Given the description of an element on the screen output the (x, y) to click on. 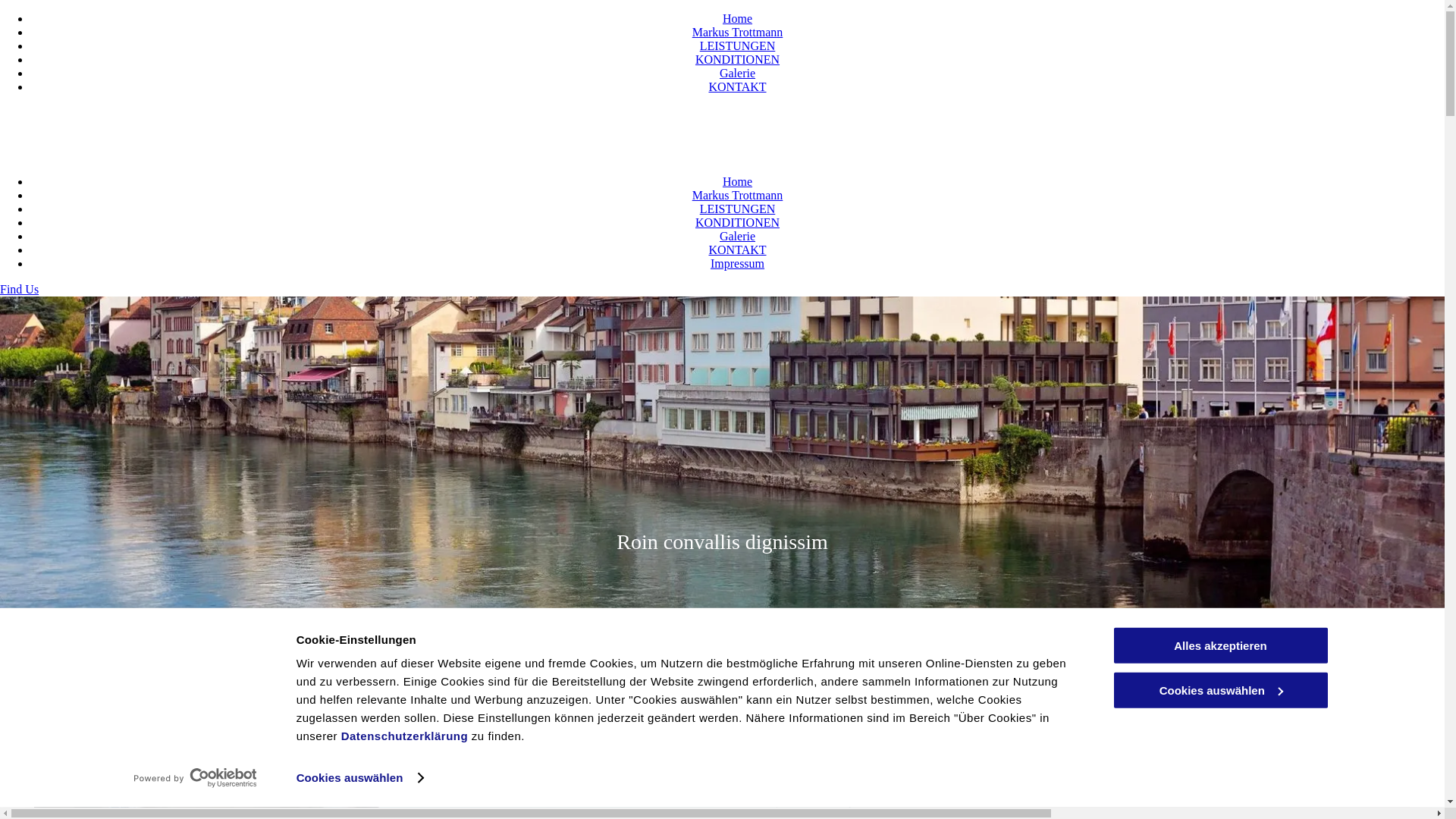
Alles akzeptieren Element type: text (1219, 645)
  Element type: text (626, 114)
Home Element type: text (737, 181)
  Element type: text (2, 149)
Find Us Element type: text (19, 288)
Home Element type: text (737, 18)
KONTAKT Element type: text (736, 86)
LEISTUNGEN Element type: text (737, 208)
Impressum Element type: text (737, 263)
KONTAKT Element type: text (736, 249)
Markus Trottmann Element type: text (737, 31)
Galerie Element type: text (737, 72)
ADVOKATUR AM RHEIN Element type: text (122, 149)
Galerie Element type: text (737, 235)
KONDITIONEN Element type: text (737, 59)
LEISTUNGEN Element type: text (737, 45)
KONDITIONEN Element type: text (737, 222)
ADVOKATUR AM RHEIN Element type: text (729, 114)
Markus Trottmann Element type: text (737, 194)
